Given the description of an element on the screen output the (x, y) to click on. 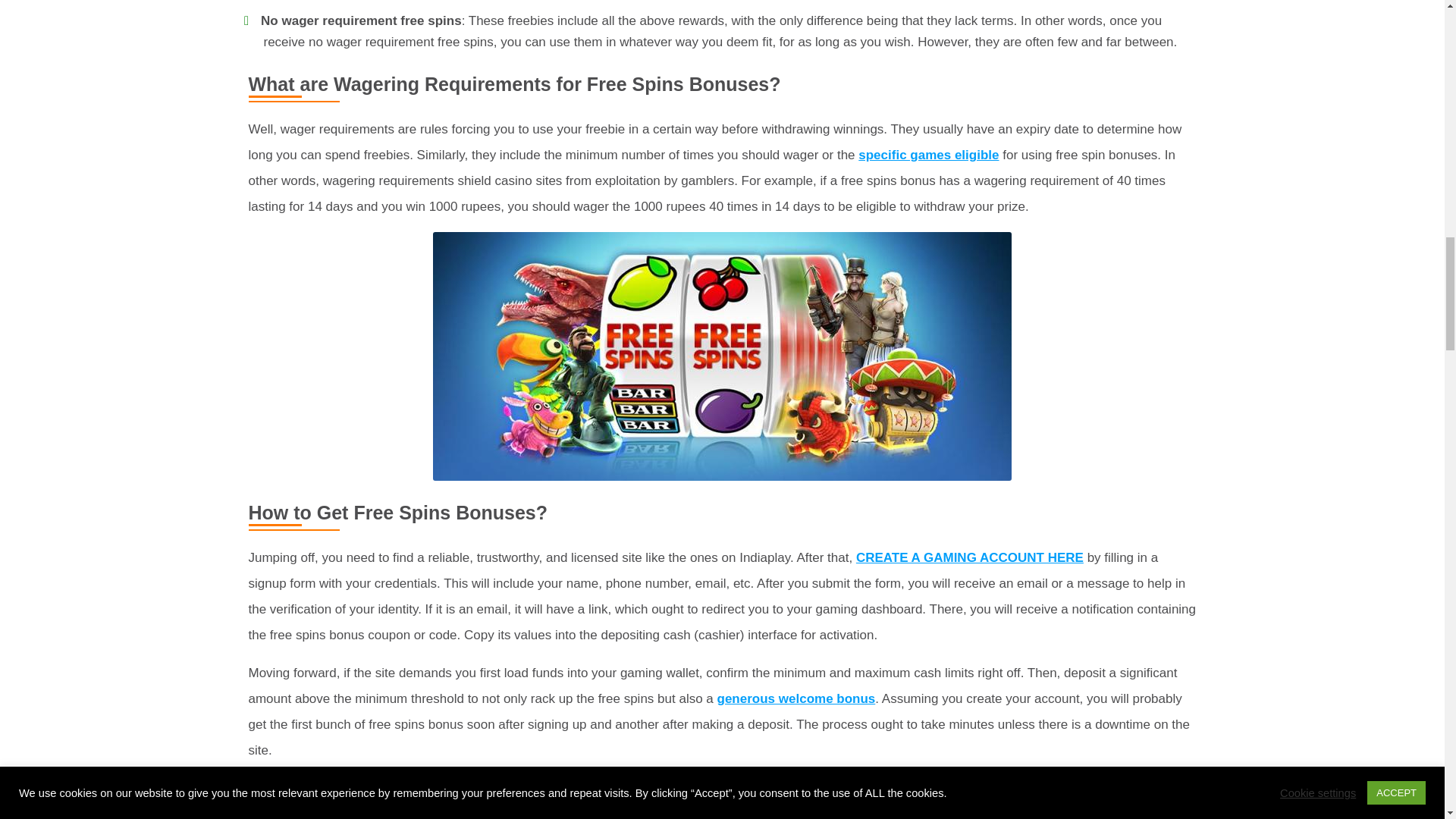
specific games eligible (928, 155)
generous welcome bonus (796, 698)
